Given the description of an element on the screen output the (x, y) to click on. 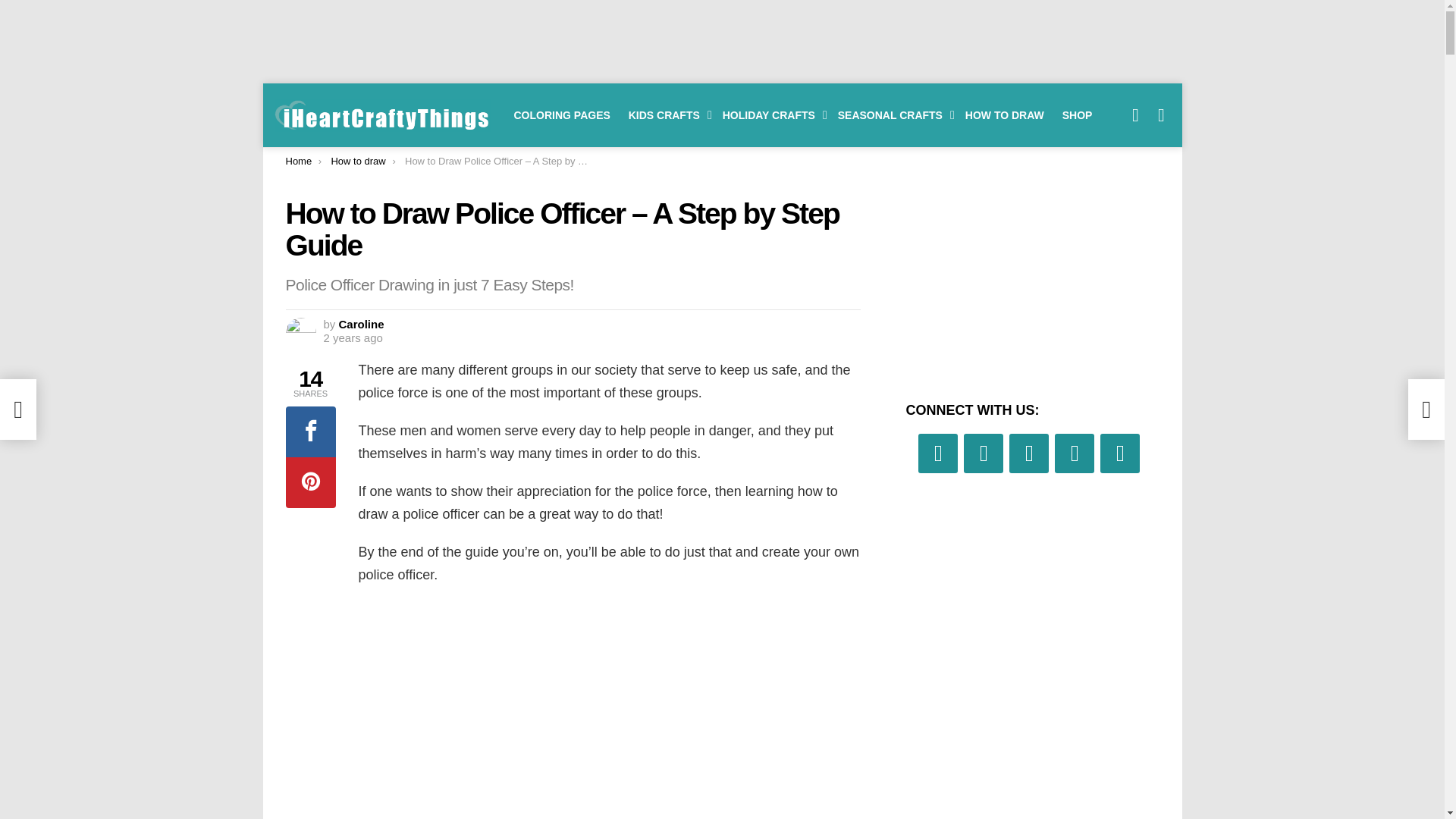
HOW TO DRAW (1004, 115)
SHOP (1077, 115)
Posts by Caroline (361, 323)
July 15, 2022, 4:41 AM (352, 337)
COLORING PAGES (561, 115)
HOLIDAY CRAFTS (770, 115)
SEASONAL CRAFTS (892, 115)
KIDS CRAFTS (666, 115)
